Given the description of an element on the screen output the (x, y) to click on. 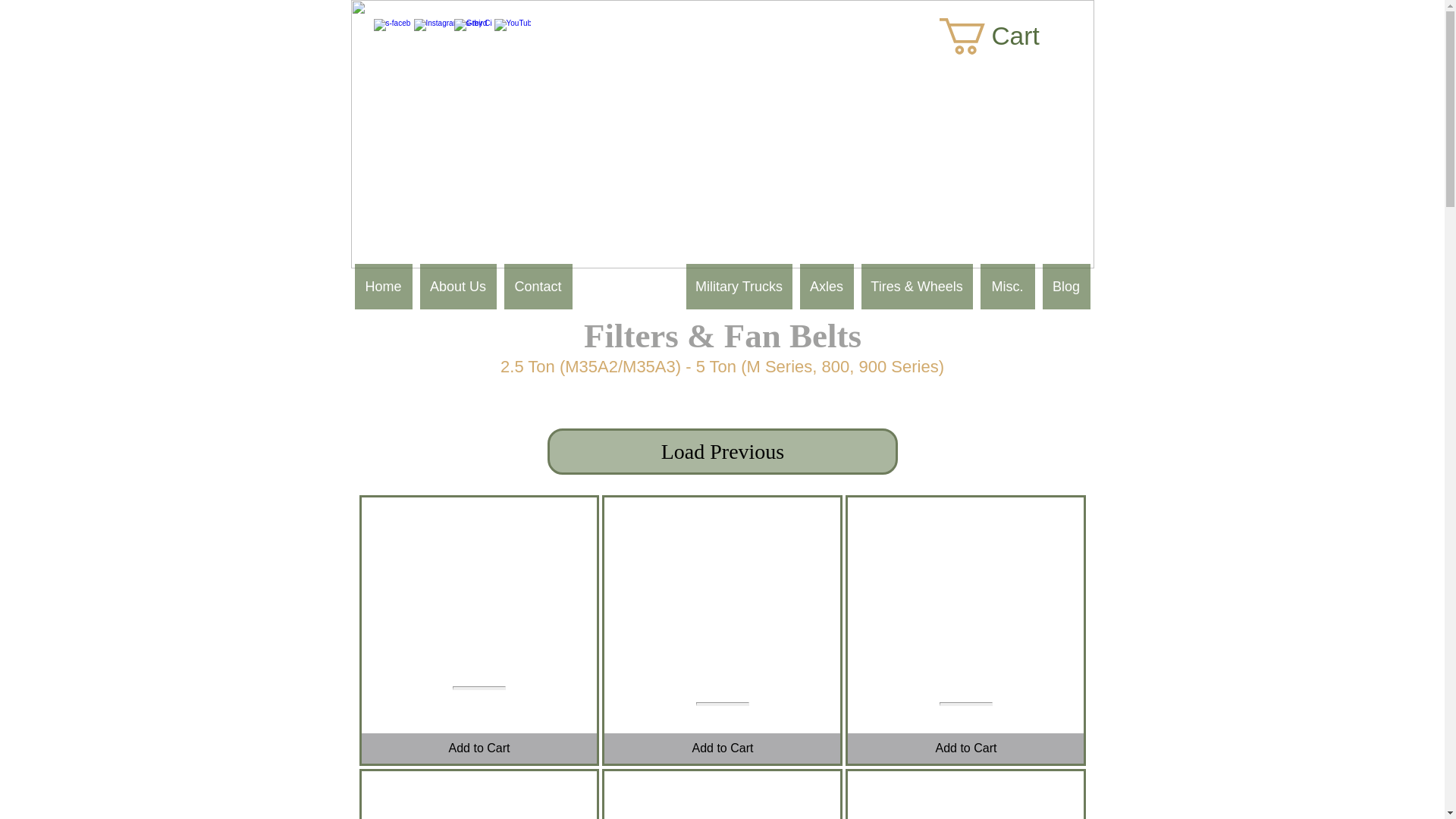
Cart (1008, 36)
Contact (537, 286)
Home (383, 286)
Military Trucks (738, 286)
Military Parts (628, 286)
About Us (458, 286)
Cart (1008, 36)
